Given the description of an element on the screen output the (x, y) to click on. 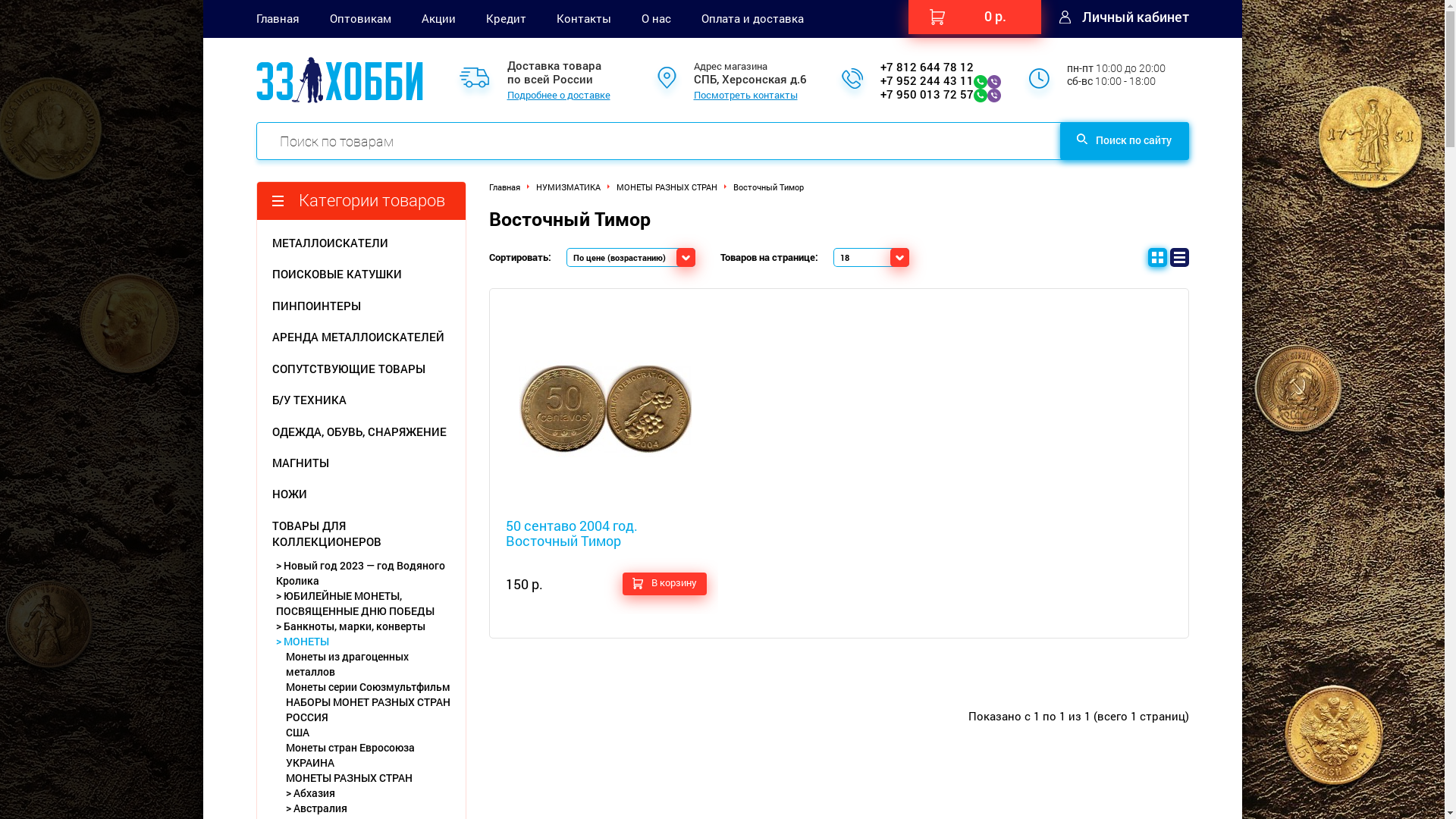
+7 812 644 78 12 Element type: text (925, 65)
+7 952 244 43 11 Element type: text (925, 79)
+7 950 013 72 57 Element type: text (925, 93)
